Given the description of an element on the screen output the (x, y) to click on. 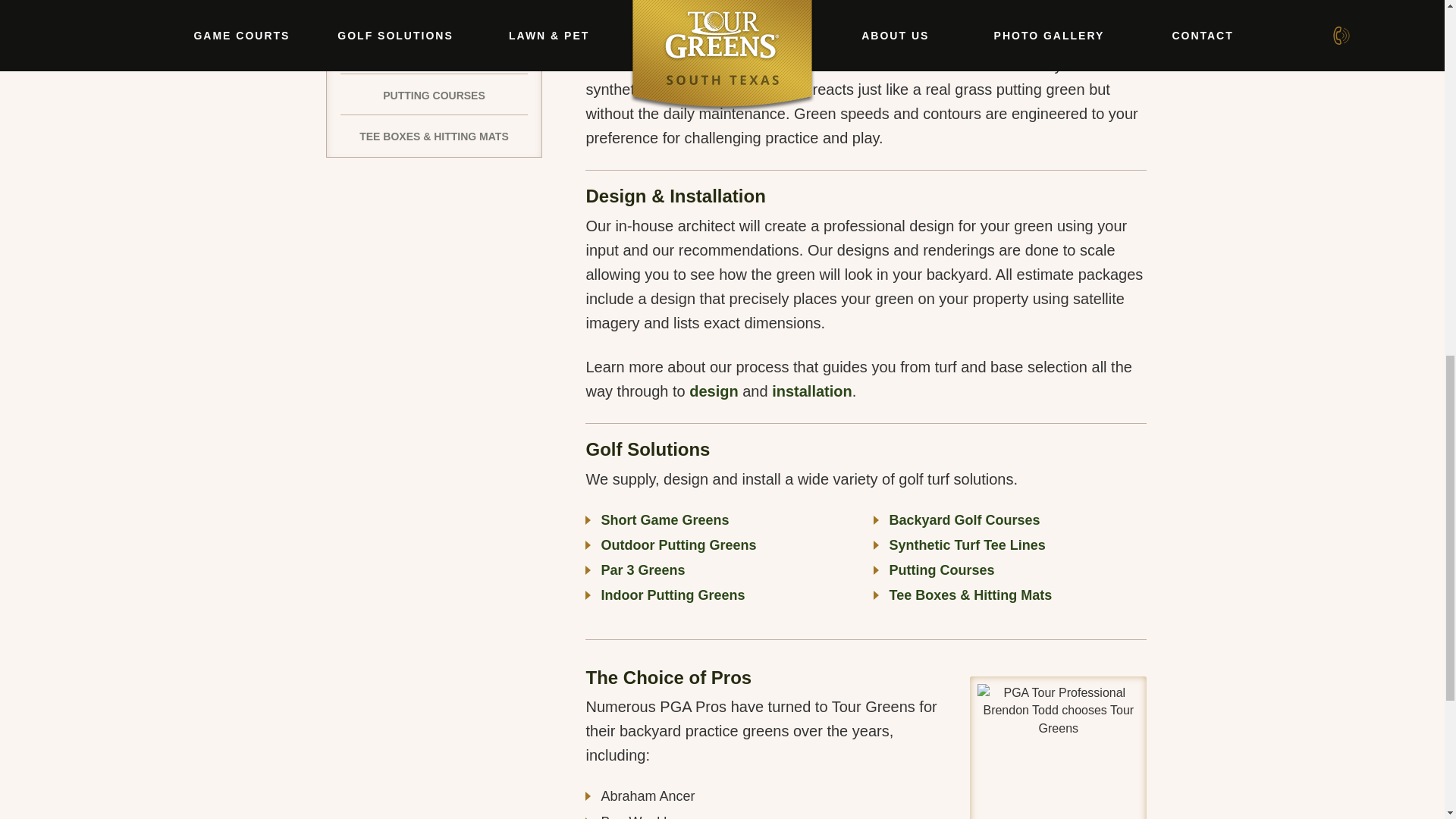
design (713, 391)
Par 3 Greens (641, 570)
installation (811, 391)
Outdoor Putting Greens (677, 544)
Indoor Putting Greens (671, 595)
Short Game Greens (664, 519)
